Given the description of an element on the screen output the (x, y) to click on. 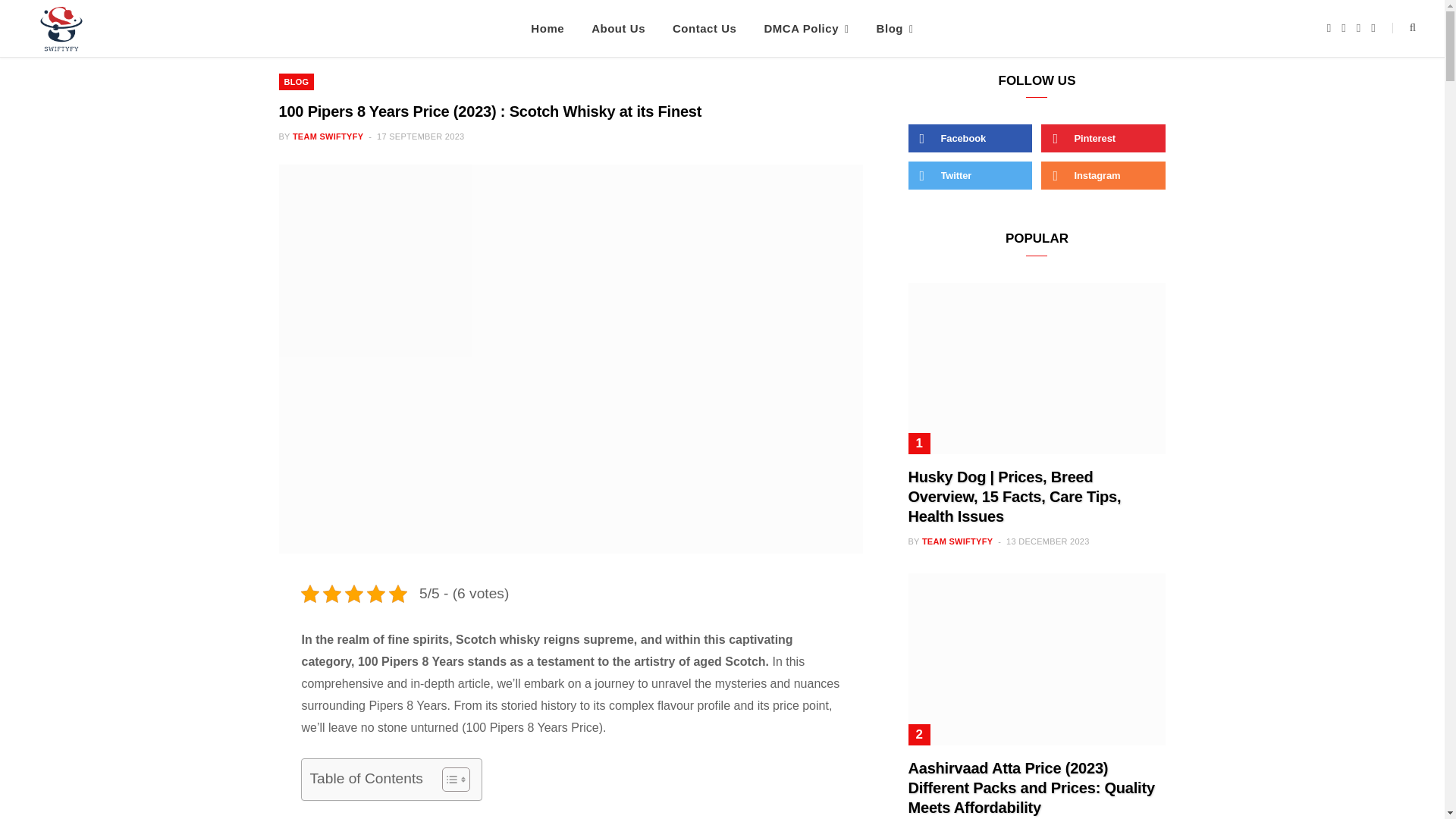
Blog (895, 28)
BLOG (296, 81)
TEAM SWIFTYFY (327, 135)
Home (547, 28)
About Us (618, 28)
Contact Us (704, 28)
Posts by Team SwiftyFy (327, 135)
17 SEPTEMBER 2023 (420, 135)
SwiftyFy (63, 31)
DMCA Policy (805, 28)
